Given the description of an element on the screen output the (x, y) to click on. 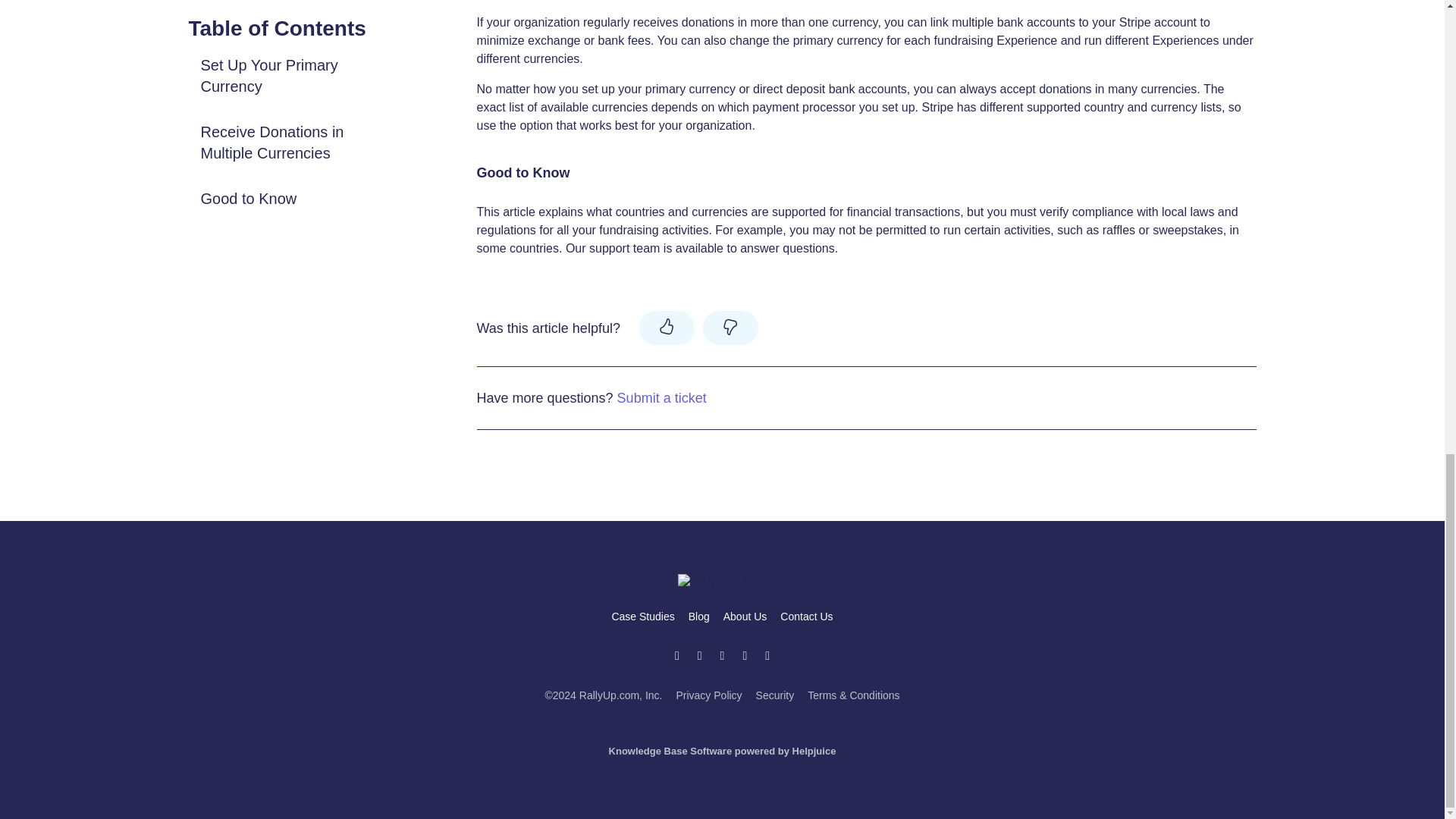
Blog (699, 616)
Security (775, 694)
twitter (676, 656)
linkedin (766, 656)
About Us (745, 616)
Case Studies (642, 616)
instagram (722, 656)
Privacy Policy (708, 694)
youtube (699, 656)
Submit a ticket (661, 397)
facebook (744, 656)
Contact Us (806, 616)
Knowledge Base Software powered by Helpjuice (721, 750)
